Given the description of an element on the screen output the (x, y) to click on. 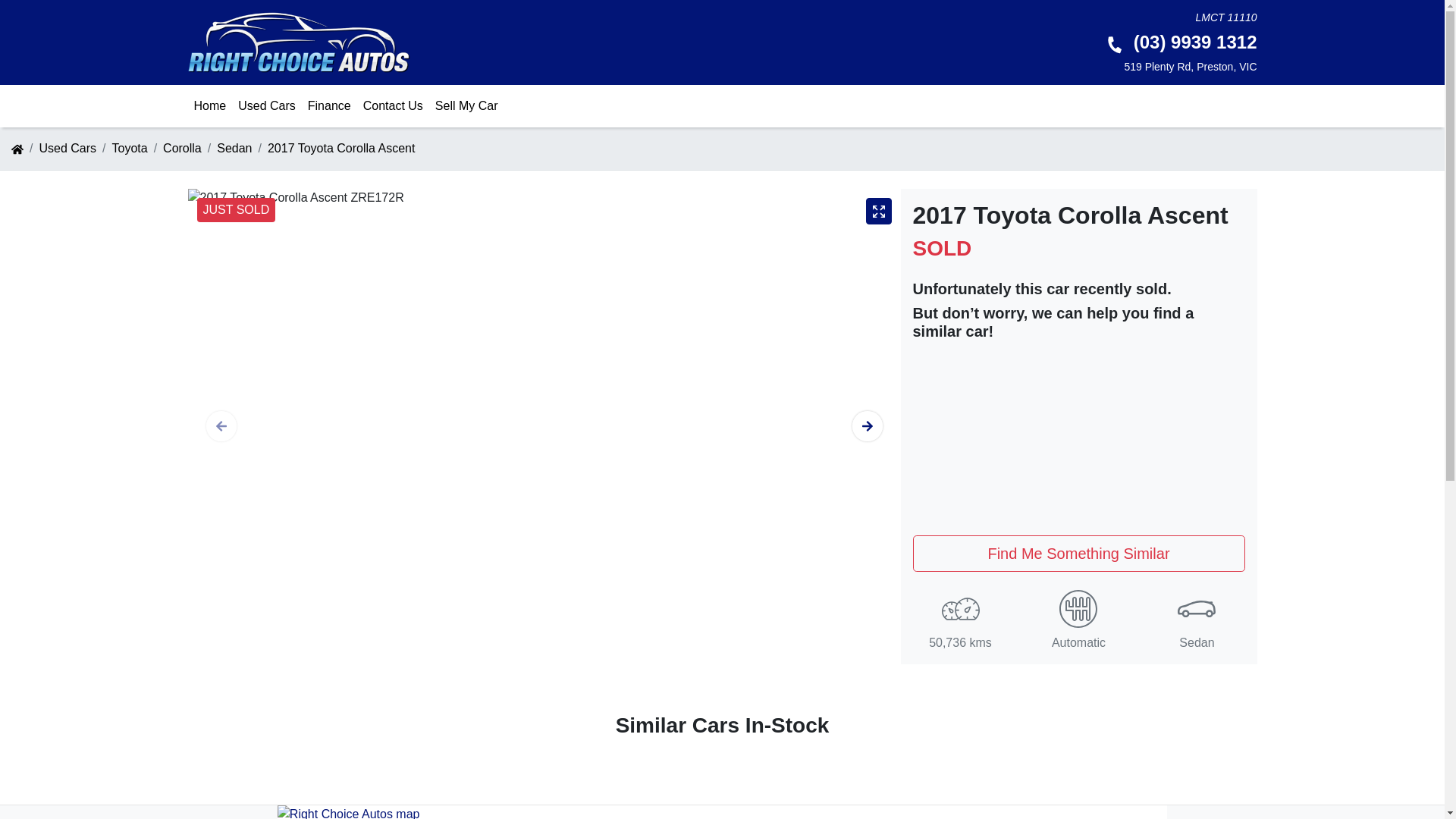
Sedan Element type: text (233, 147)
Used Cars Element type: text (67, 147)
Toyota Element type: text (129, 147)
Corolla Element type: text (182, 147)
Used Cars Element type: text (266, 106)
Finance Element type: text (329, 106)
Home Element type: text (210, 106)
(03) 9939 1312 Element type: text (1180, 42)
Find Me Something Similar Element type: text (1079, 553)
Sell My Car Element type: text (466, 106)
Contact Us Element type: text (393, 106)
